Given the description of an element on the screen output the (x, y) to click on. 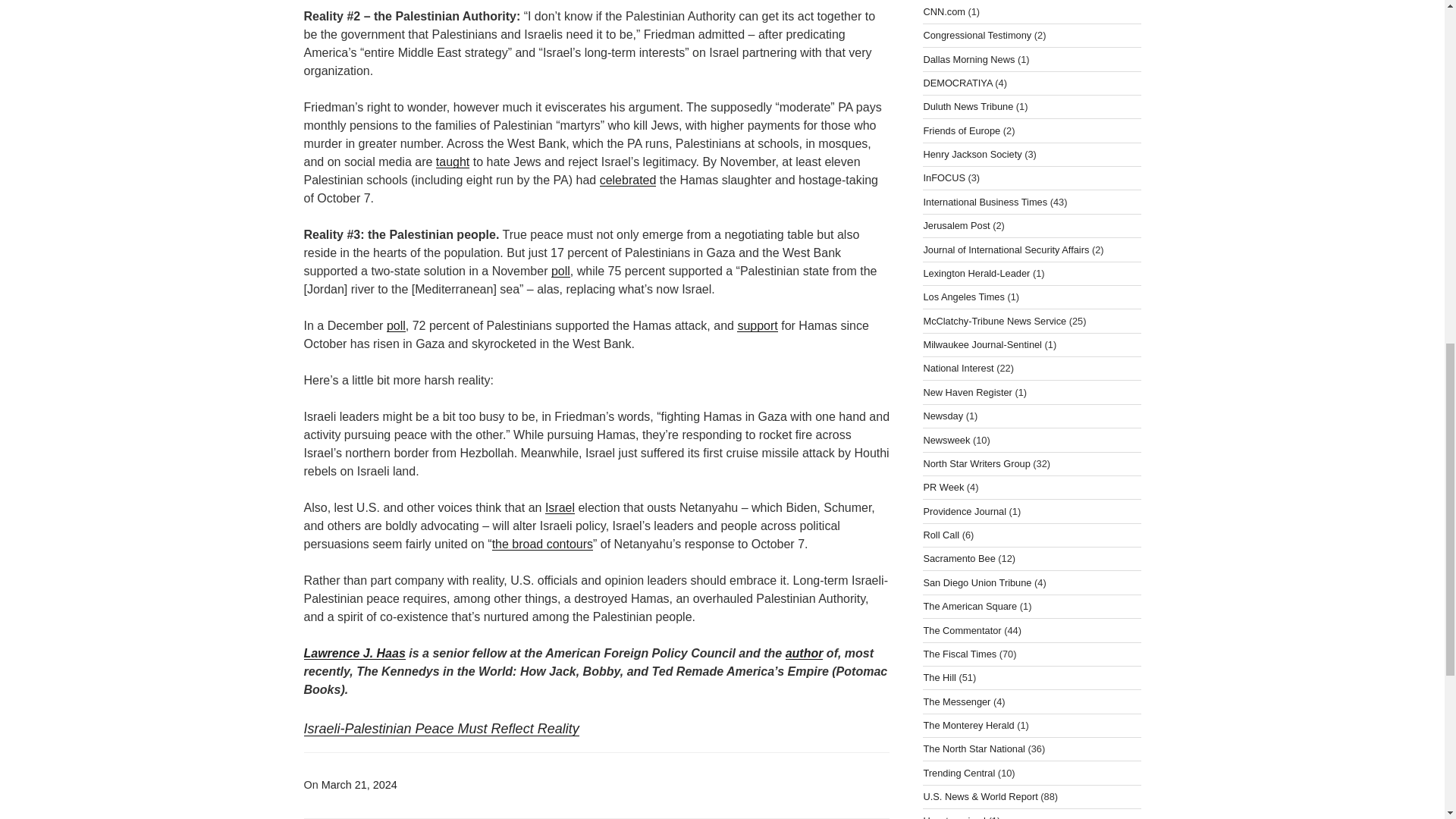
Israel (559, 507)
poll (560, 270)
celebrated (627, 179)
the broad contours (542, 543)
taught (451, 161)
poll (396, 325)
March 21, 2024 (359, 784)
Lawrence J. Haas (353, 653)
author (805, 653)
support (756, 325)
Israeli-Palestinian Peace Must Reflect Reality (440, 728)
